Given the description of an element on the screen output the (x, y) to click on. 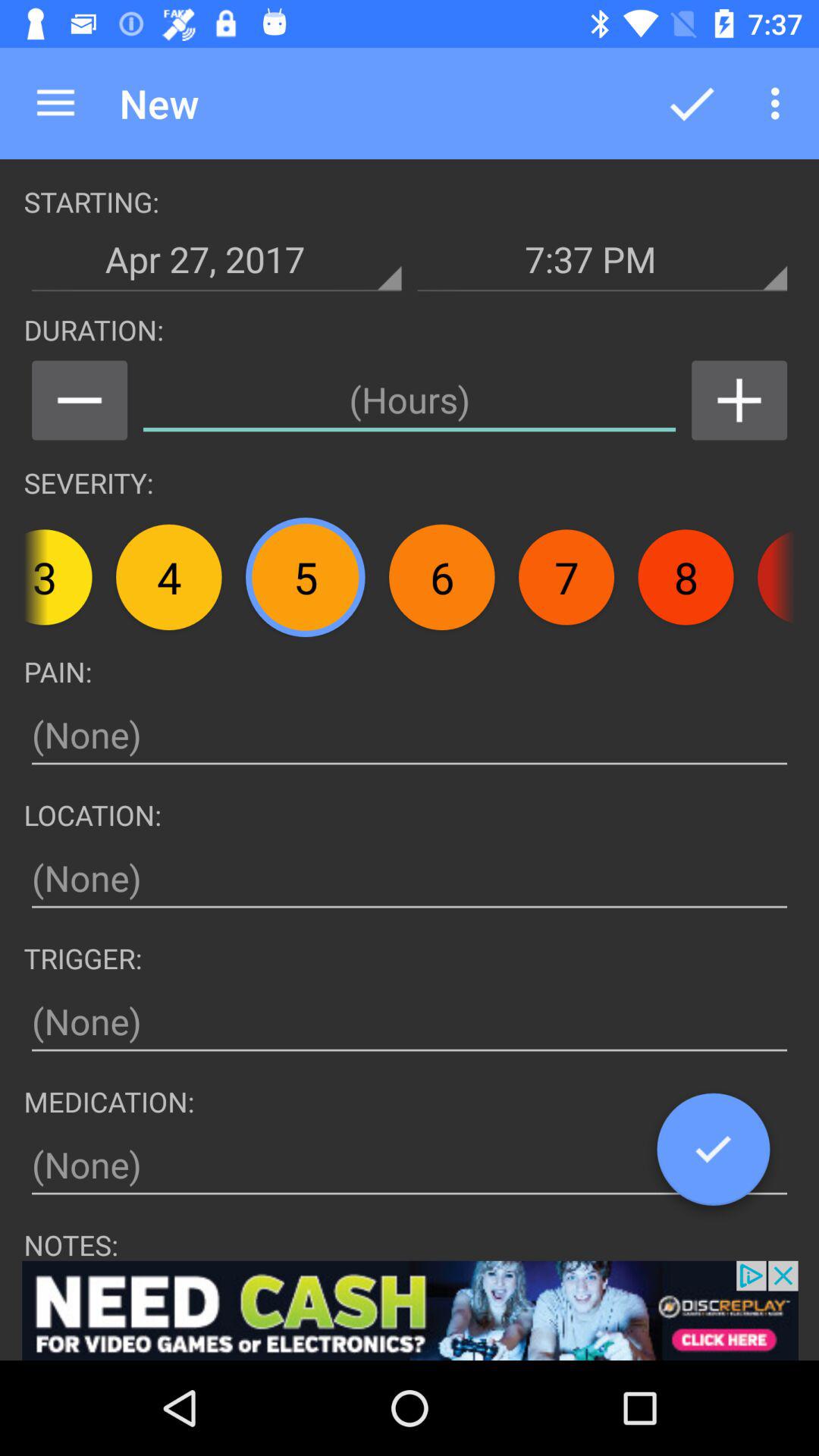
address page (409, 1165)
